Given the description of an element on the screen output the (x, y) to click on. 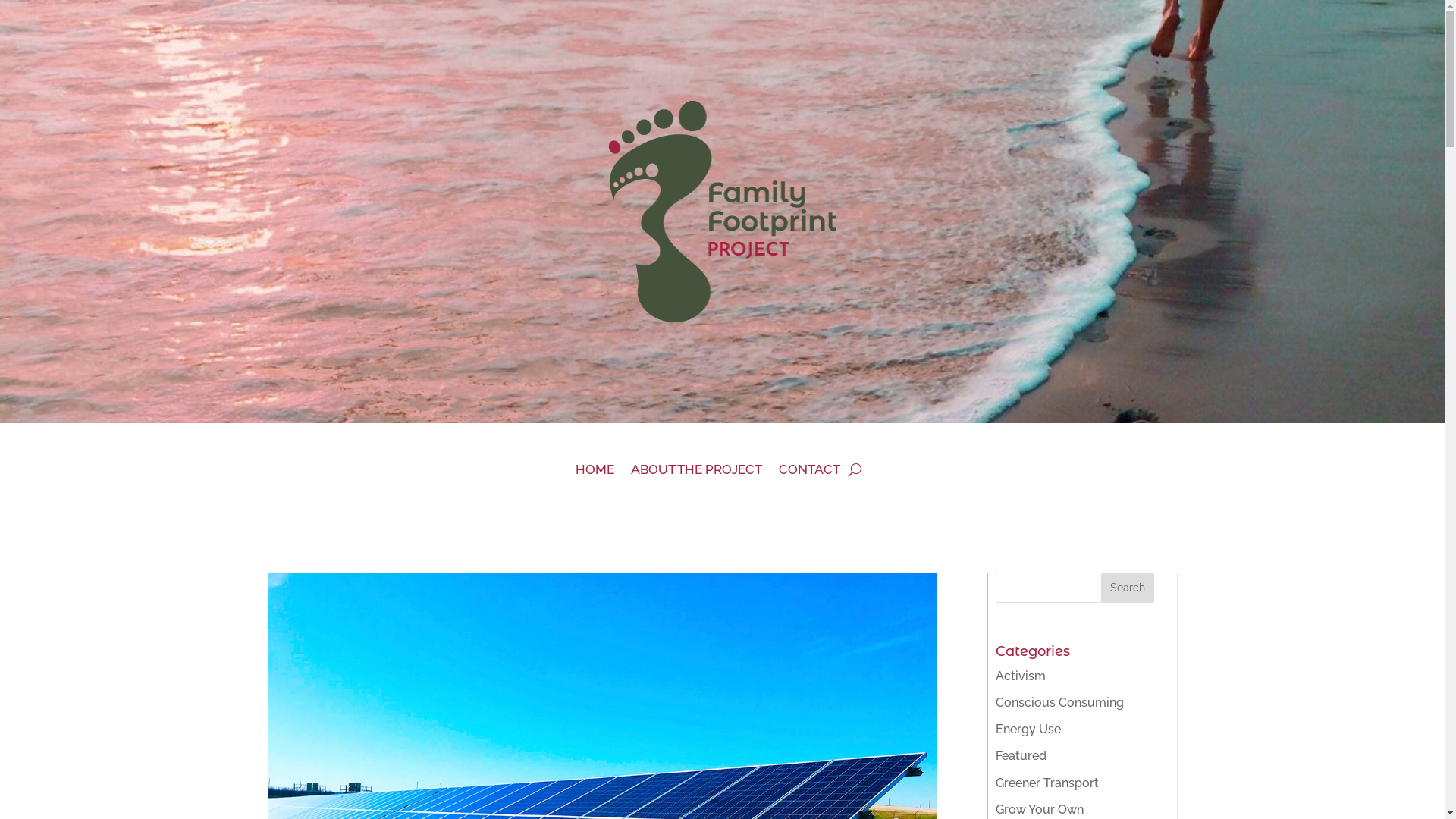
HOME Element type: text (593, 472)
Grow Your Own Element type: text (1039, 809)
Featured Element type: text (1020, 755)
ABOUT THE PROJECT Element type: text (696, 472)
Energy Use Element type: text (1027, 728)
Search Element type: text (1127, 587)
Conscious Consuming Element type: text (1059, 702)
FFP-Logo-300px Element type: hover (721, 211)
Activism Element type: text (1020, 675)
Greener Transport Element type: text (1046, 782)
CONTACT Element type: text (808, 472)
